Given the description of an element on the screen output the (x, y) to click on. 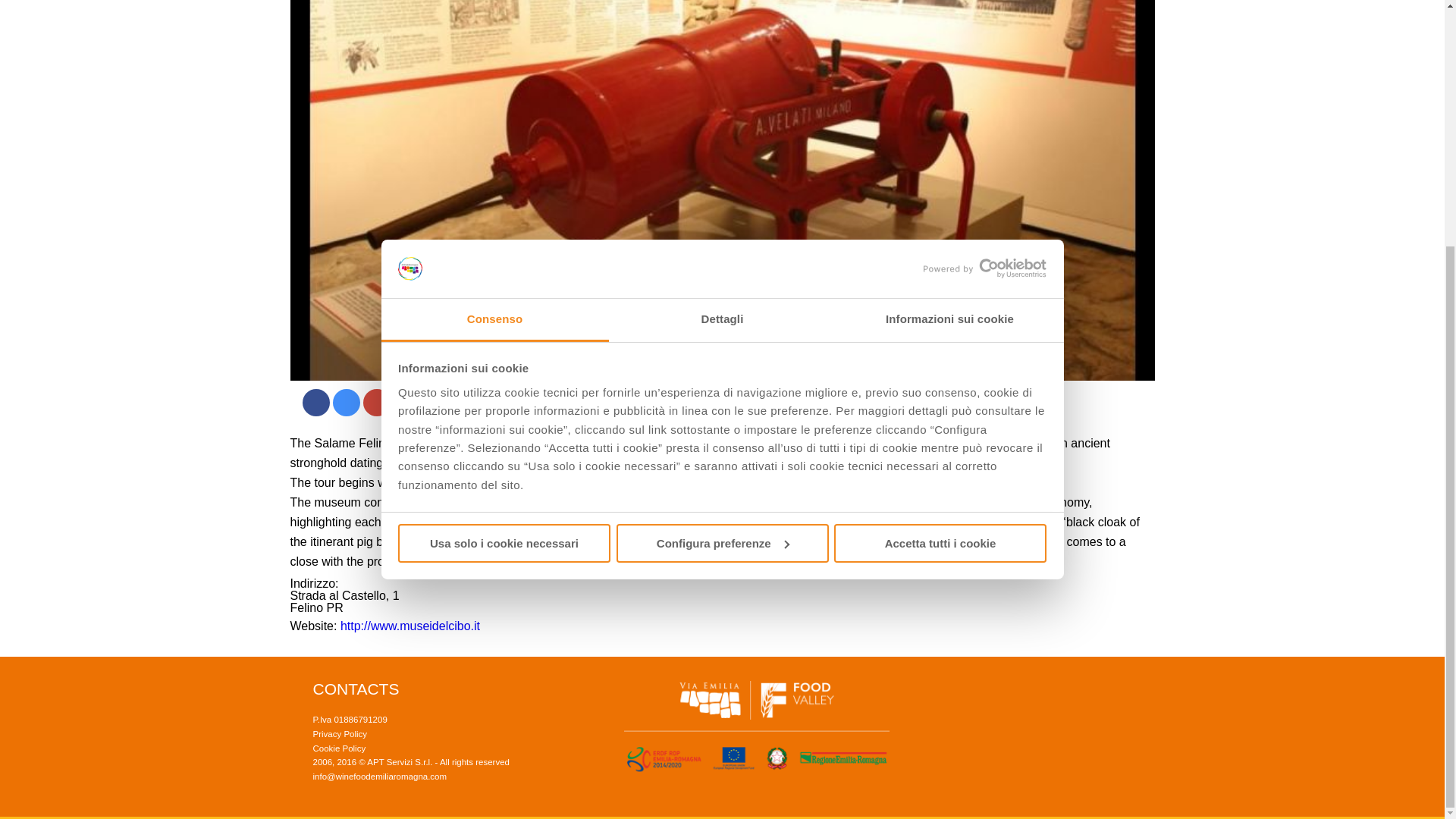
Accetta tutti i cookie (940, 199)
Configura preferenze (721, 199)
Usa solo i cookie necessari (503, 199)
